Given the description of an element on the screen output the (x, y) to click on. 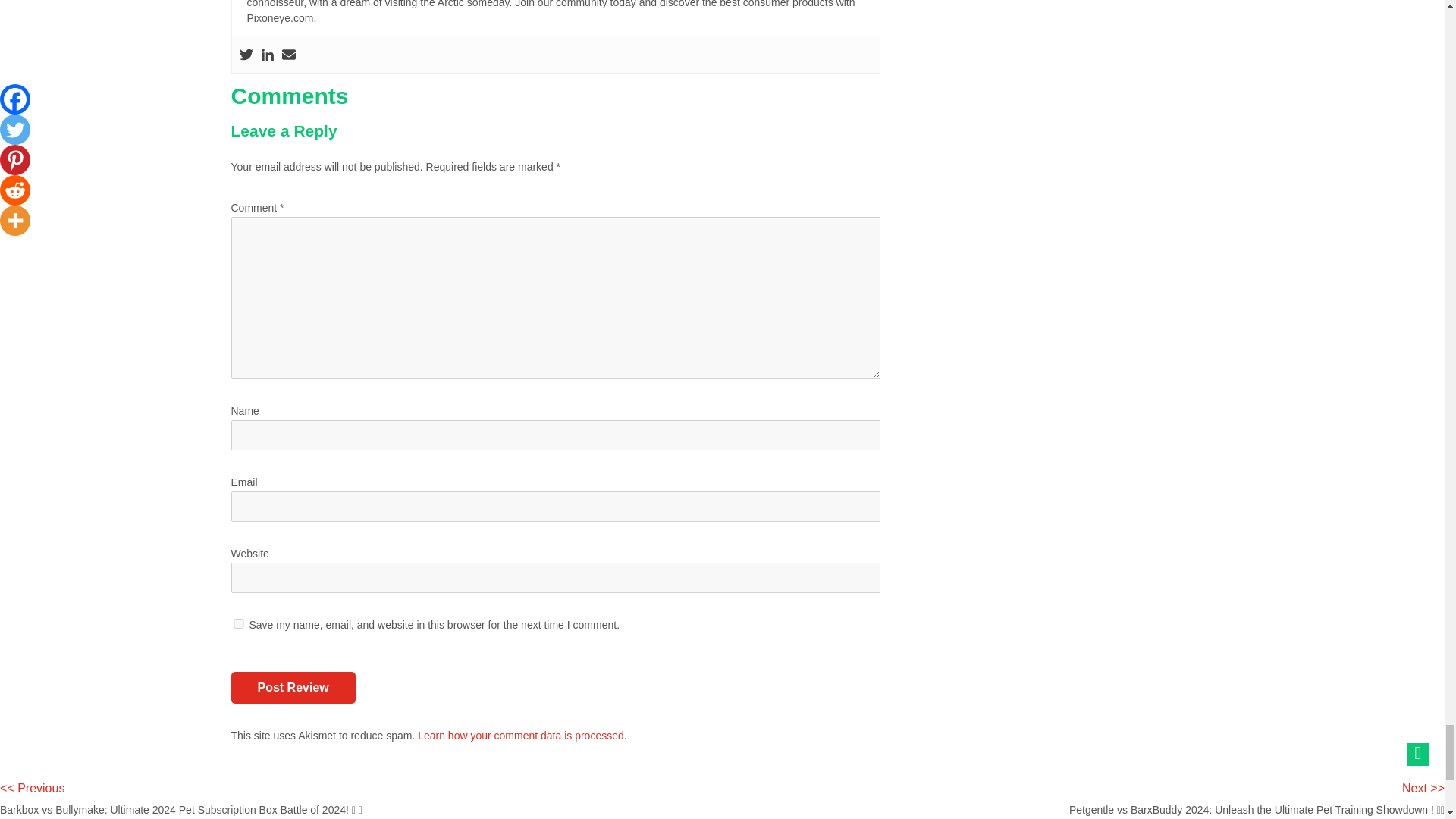
Post Review (292, 687)
yes (238, 623)
